Given the description of an element on the screen output the (x, y) to click on. 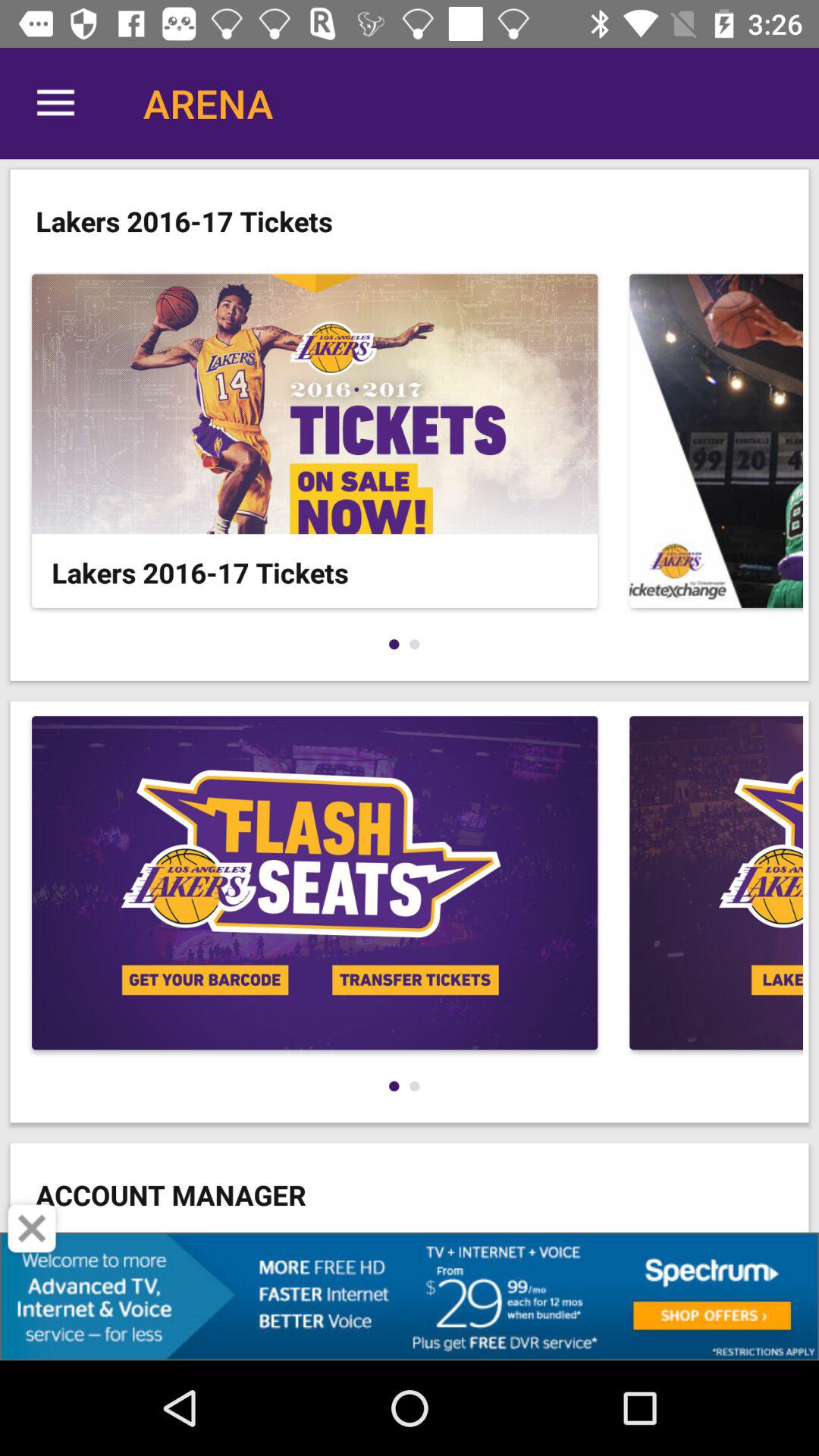
launch icon next to the arena item (55, 103)
